Given the description of an element on the screen output the (x, y) to click on. 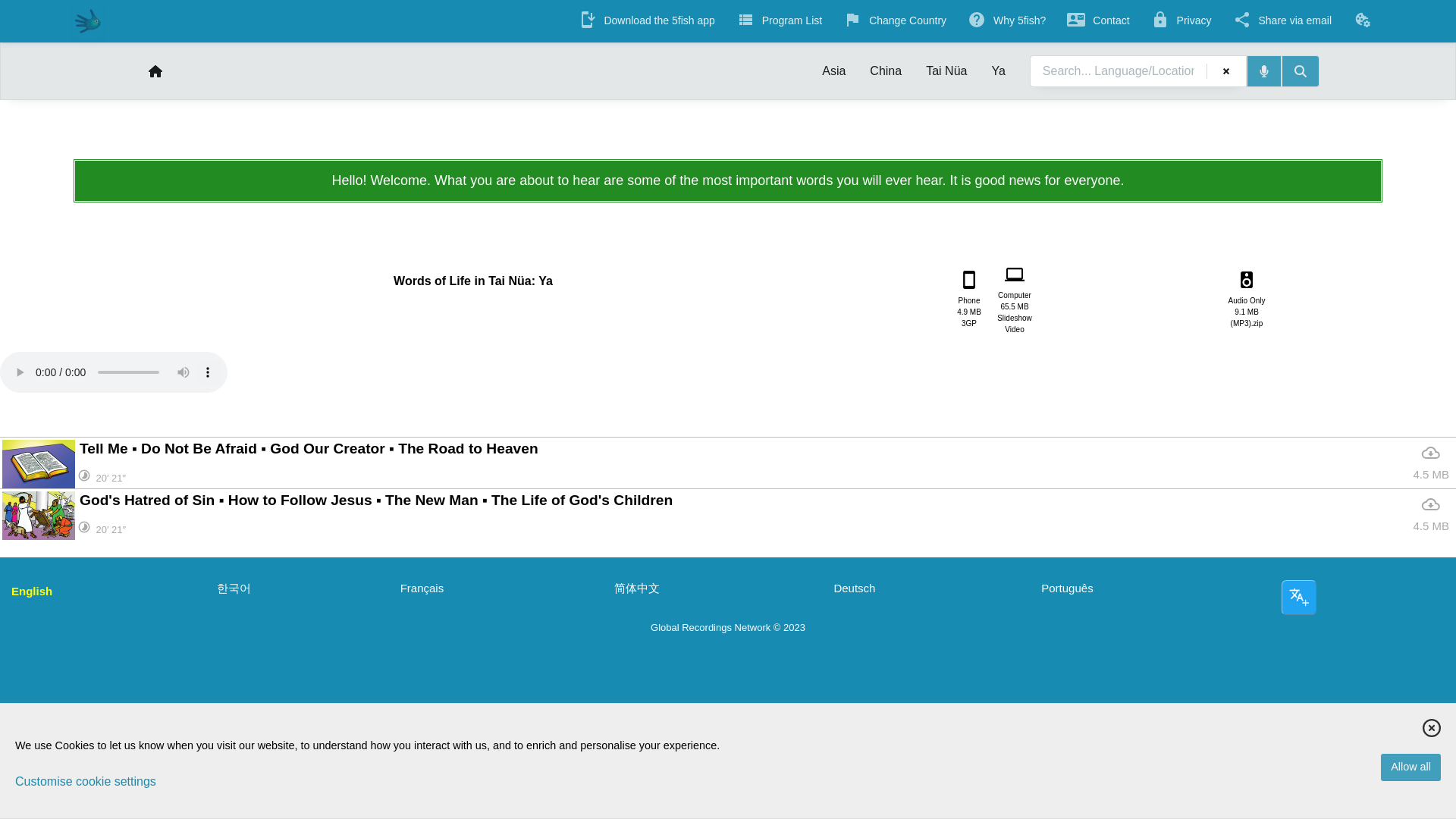
Reset cookies (1365, 21)
Asia (833, 71)
4.5 MB (1430, 515)
China (968, 298)
Contact (885, 71)
Reset cookies (1098, 22)
Share via email (1361, 19)
Change Country (1282, 22)
Program List (894, 22)
4.5 MB (779, 22)
Ya (1013, 298)
Download the 5fish app (1430, 463)
Why 5fish? (997, 71)
